Given the description of an element on the screen output the (x, y) to click on. 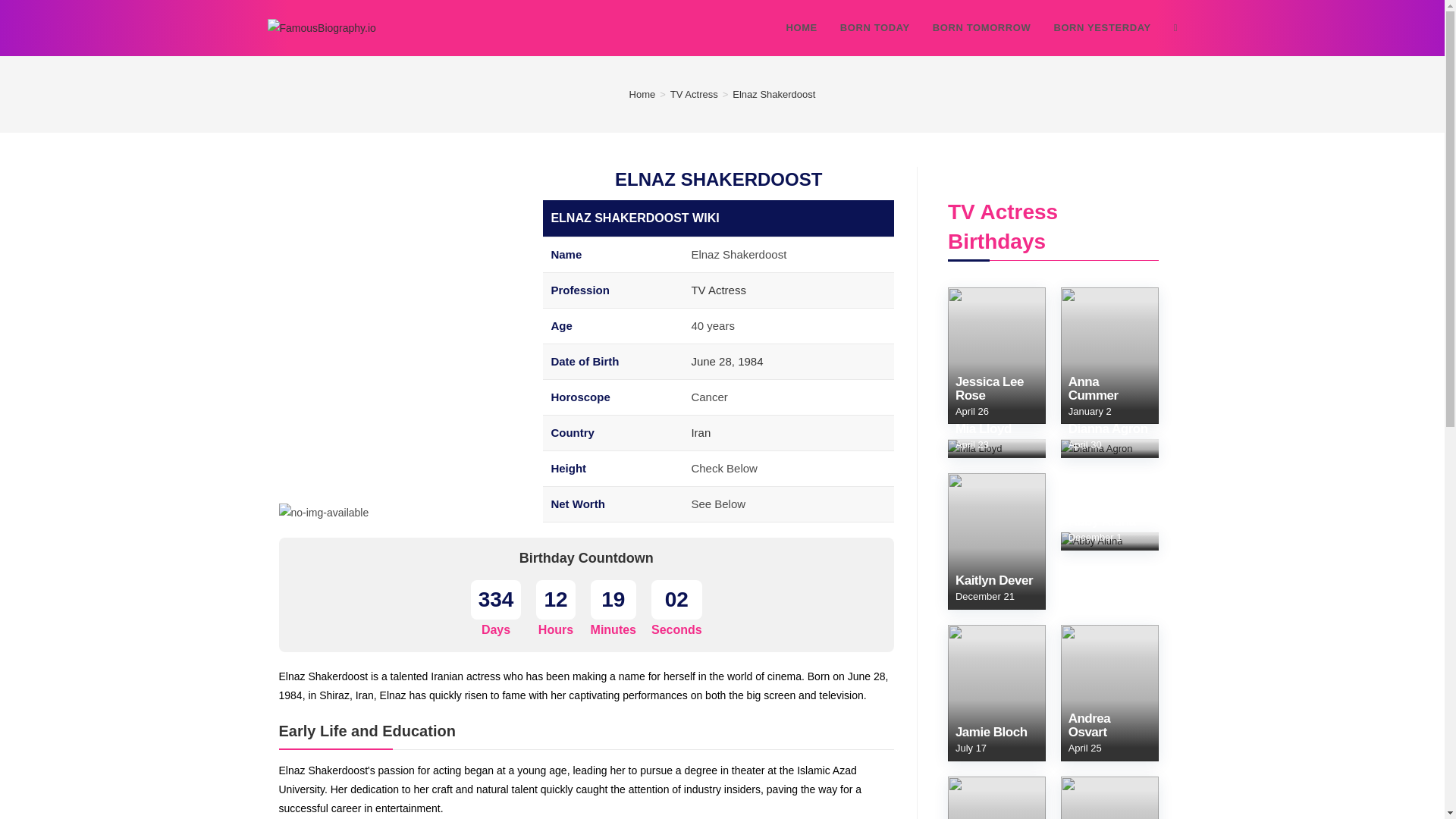
TOGGLE WEBSITE SEARCH (1175, 28)
BORN TOMORROW (981, 28)
BORN TODAY (874, 28)
Iran (700, 431)
BORN YESTERDAY (1101, 28)
HOME (801, 28)
June 28 (710, 360)
TV Actress (717, 289)
Home (642, 93)
Elnaz Shakerdoost (773, 93)
TV Actress (693, 93)
1984 (750, 360)
Elnaz Shakerdoost (324, 512)
